Given the description of an element on the screen output the (x, y) to click on. 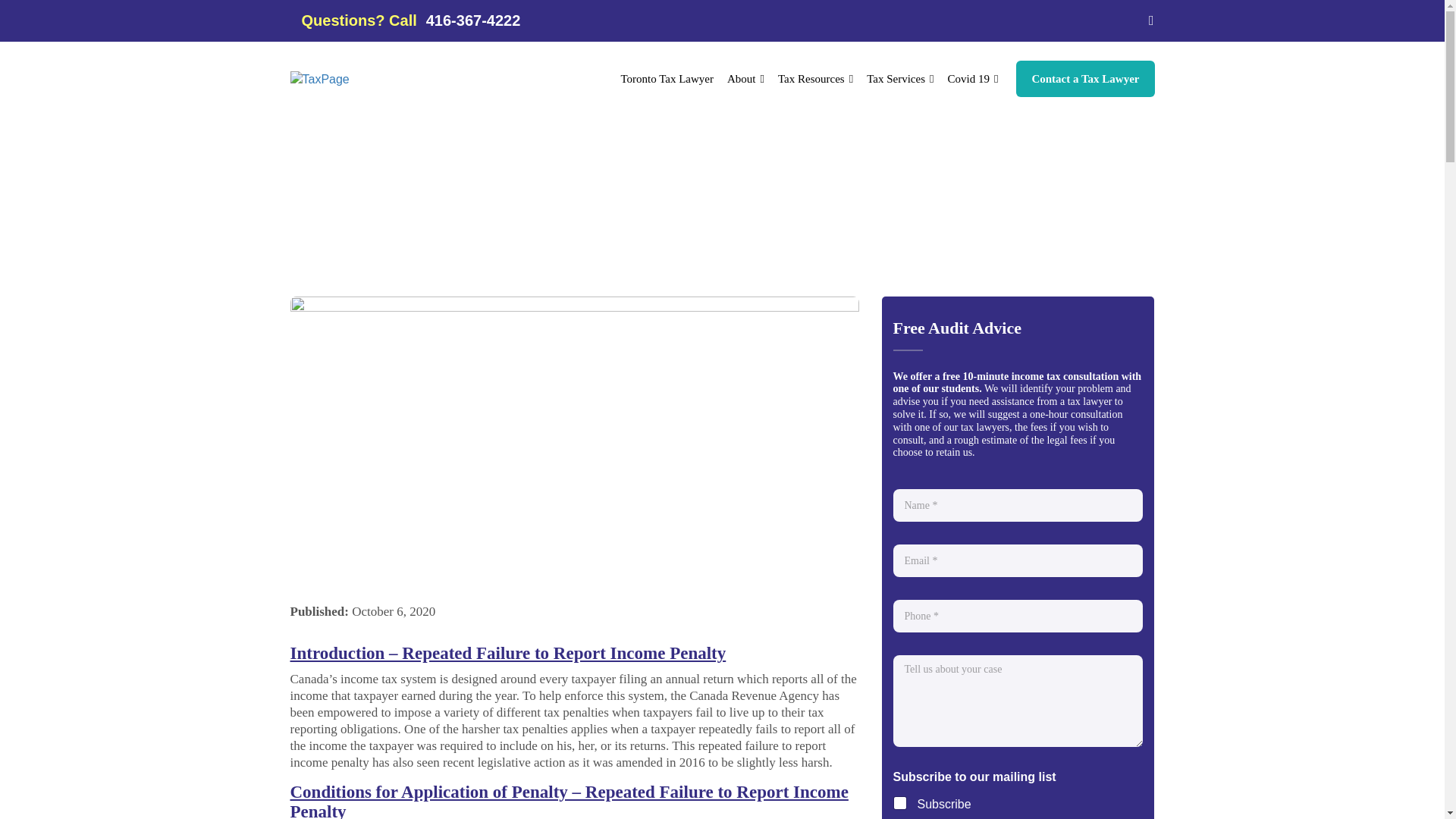
Tax Resources (815, 78)
Tax Services (900, 78)
Toronto Tax Lawyer (666, 78)
416-367-4222 (472, 20)
Subscribe (906, 805)
About (745, 78)
